Given the description of an element on the screen output the (x, y) to click on. 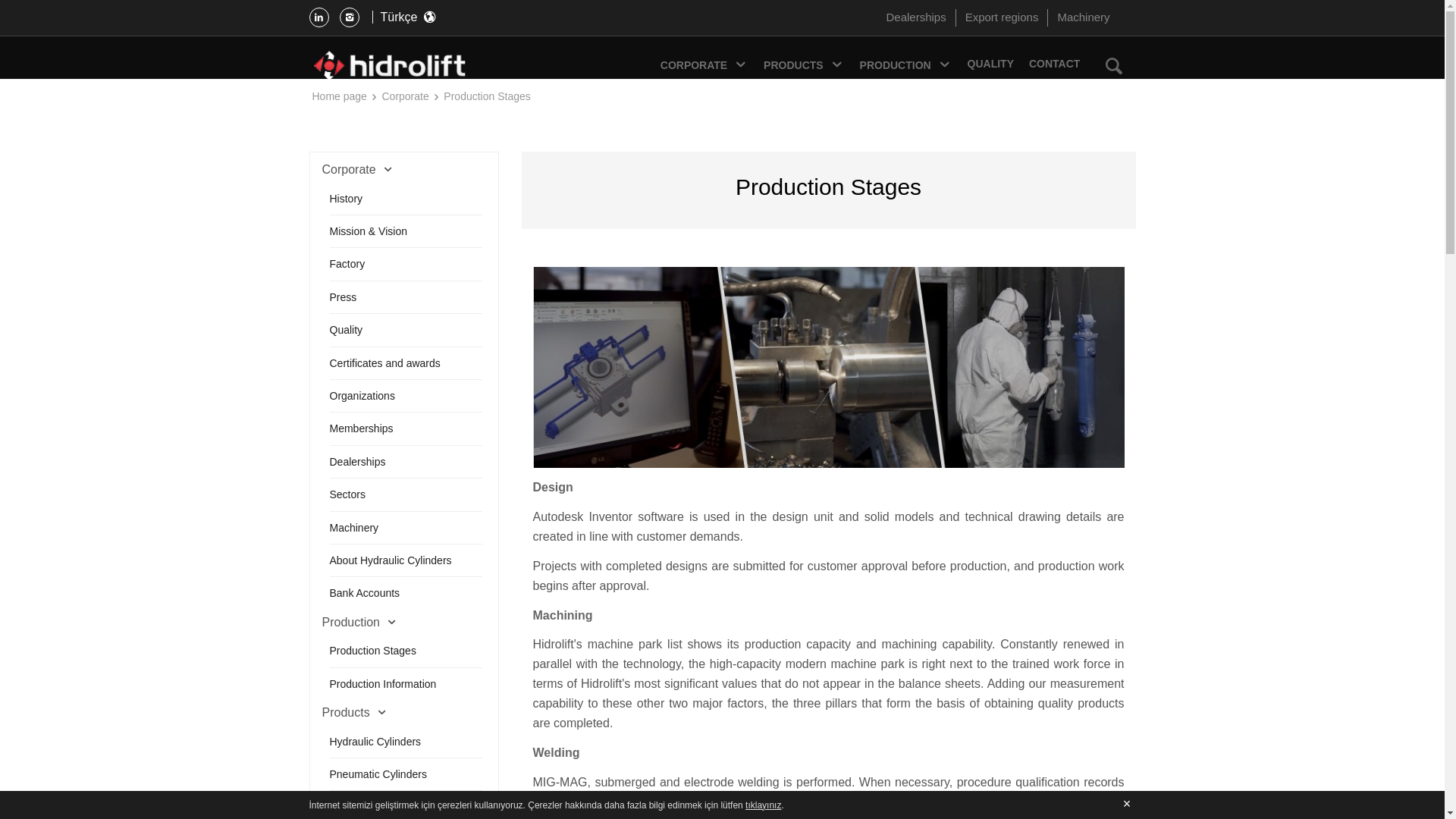
Production Stages (486, 96)
Home page (339, 96)
Machinery (1077, 17)
Dealerships (910, 17)
Corporate (404, 96)
PRODUCTION (906, 66)
Export regions (997, 17)
PRODUCTS (803, 66)
CORPORATE (704, 66)
